Given the description of an element on the screen output the (x, y) to click on. 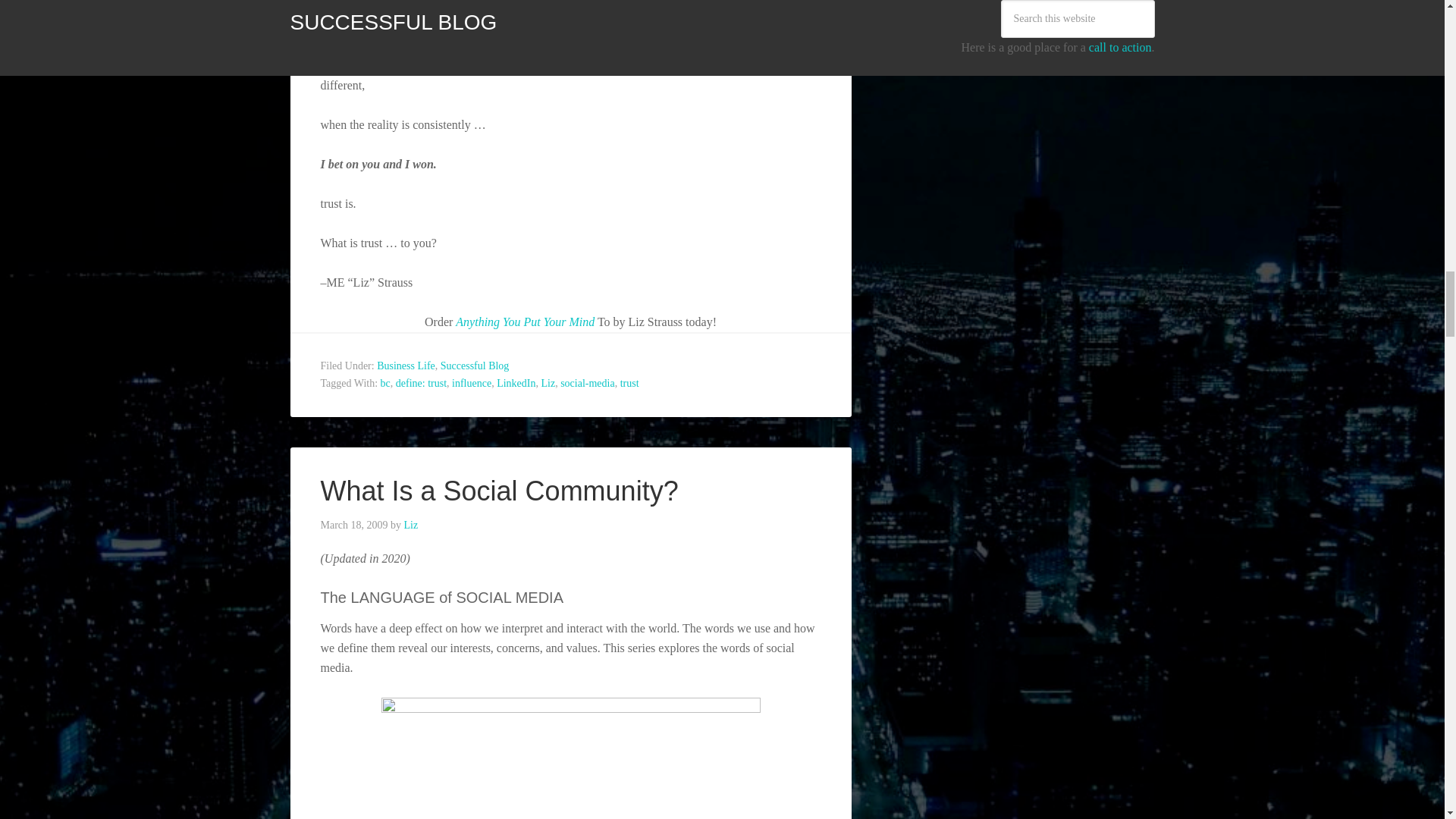
bc (385, 383)
LinkedIn (515, 383)
Liz (547, 383)
define: trust (421, 383)
Business Life (406, 365)
Anything You Put Your Mind (524, 321)
influence (471, 383)
Successful Blog (475, 365)
